Given the description of an element on the screen output the (x, y) to click on. 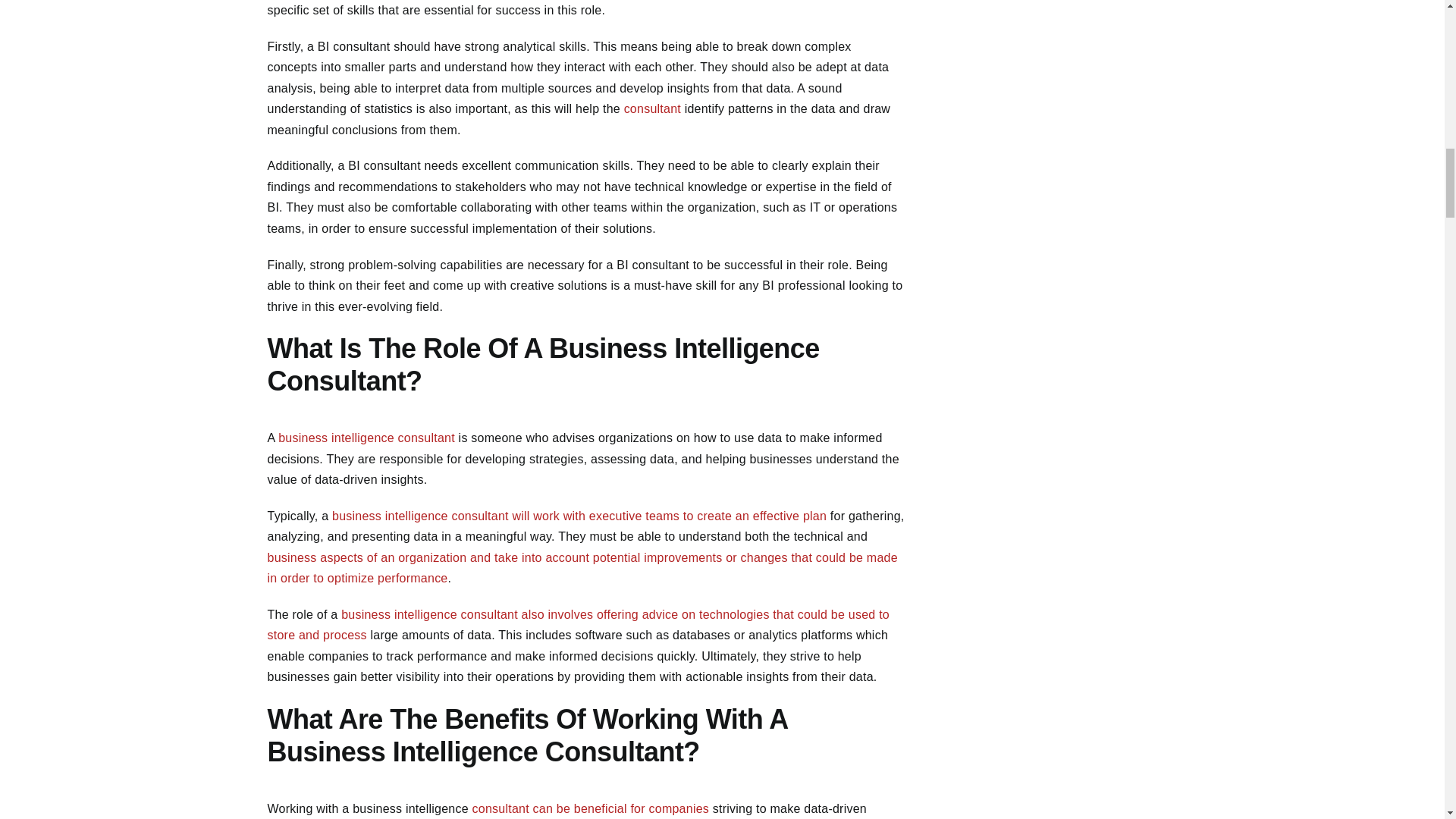
consultant (652, 108)
consultant can be beneficial for companies (590, 808)
business intelligence consultant (366, 437)
